Given the description of an element on the screen output the (x, y) to click on. 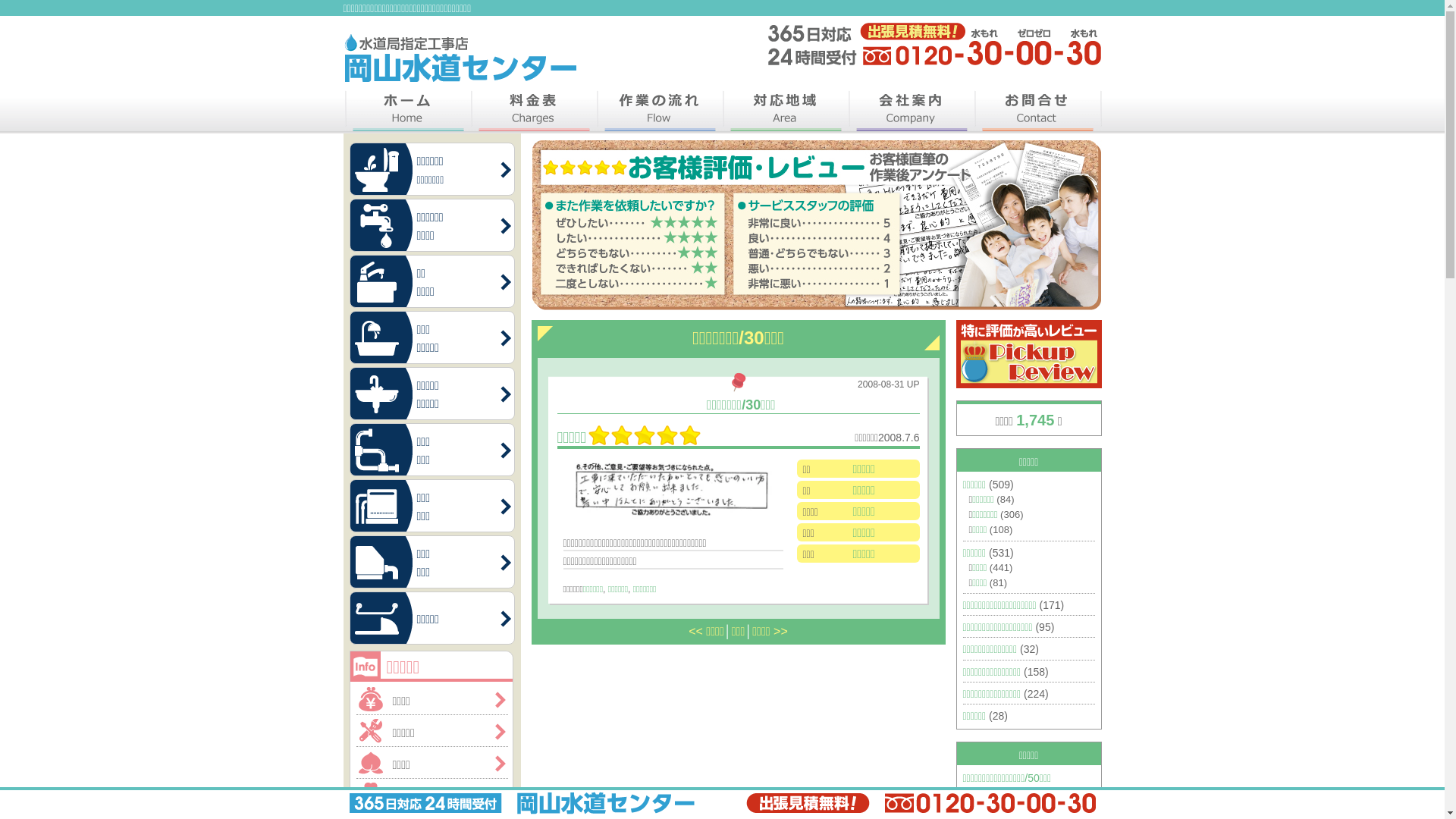
1,745 Element type: text (1035, 419)
